Given the description of an element on the screen output the (x, y) to click on. 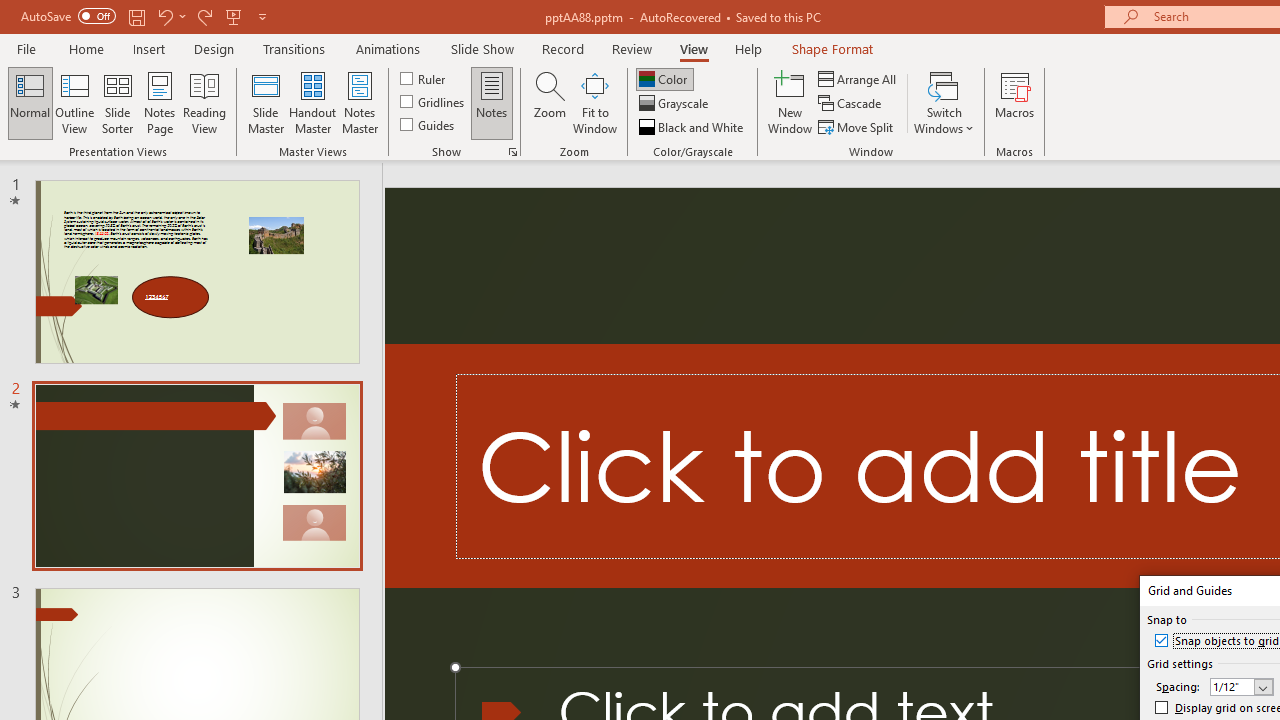
Grid Settings... (512, 151)
Arrange All (858, 78)
